Given the description of an element on the screen output the (x, y) to click on. 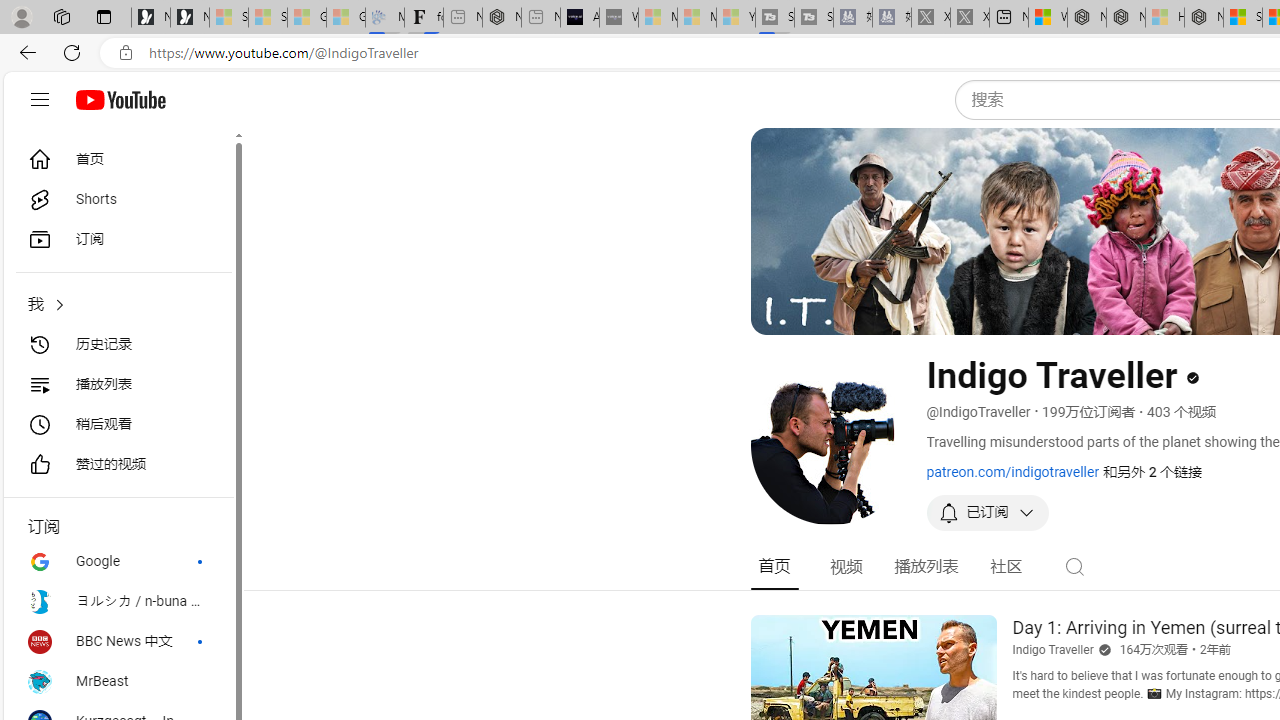
What's the best AI voice generator? - voice.ai - Sleeping (618, 17)
Newsletter Sign Up (189, 17)
Microsoft Start - Sleeping (696, 17)
